Given the description of an element on the screen output the (x, y) to click on. 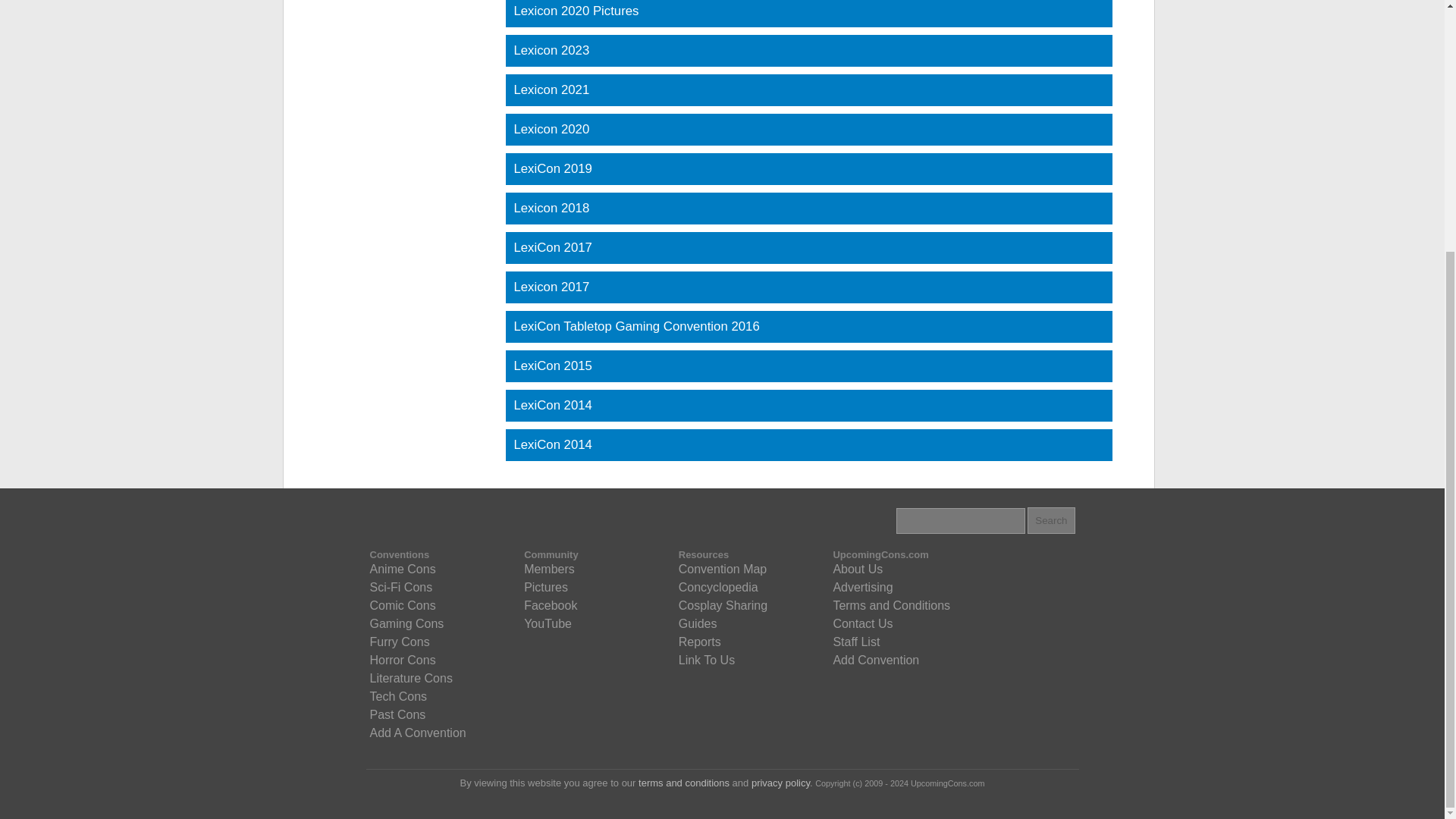
Lexicon 2021 (808, 90)
Search (1050, 519)
Lexicon 2020 (808, 129)
Gaming Cons (406, 624)
LexiCon 2014 (808, 445)
LexiCon Tabletop Gaming Convention 2016 (808, 327)
LexiCon 2015 (808, 366)
Horror Cons (402, 660)
LexiCon 2014 (808, 405)
Comic Cons (402, 606)
Sci-Fi Cons (400, 587)
Anime Cons (402, 569)
Search (1050, 519)
Search (1050, 519)
Lexicon 2018 (808, 208)
